Given the description of an element on the screen output the (x, y) to click on. 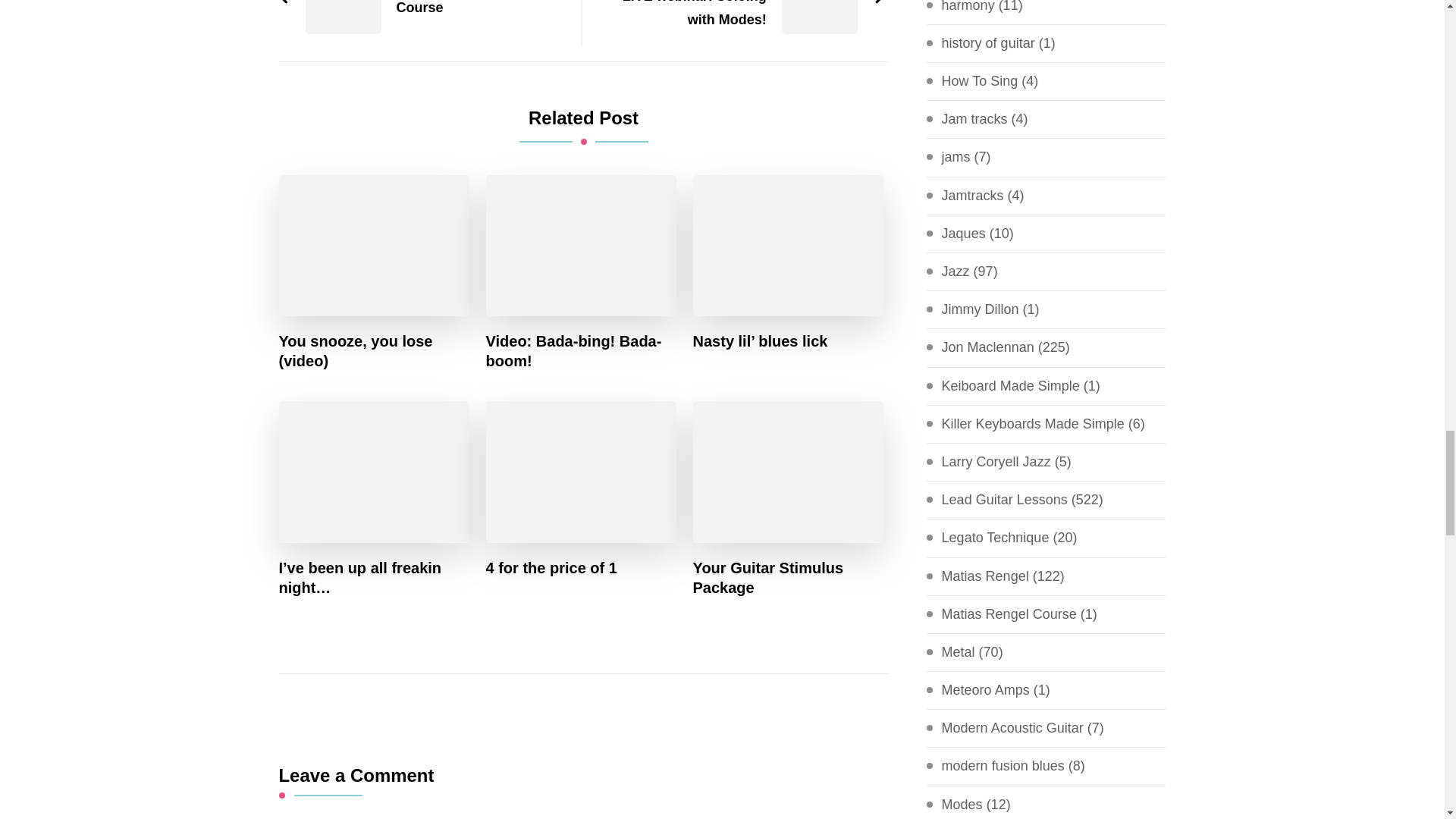
Join me Thursday for the LIVE webinar: Soloing with Modes! (740, 15)
Video: Bada-bing! Bada-boom! (581, 351)
Last call for Xmas Guitar Course (421, 9)
4 for the price of 1 (551, 567)
